Given the description of an element on the screen output the (x, y) to click on. 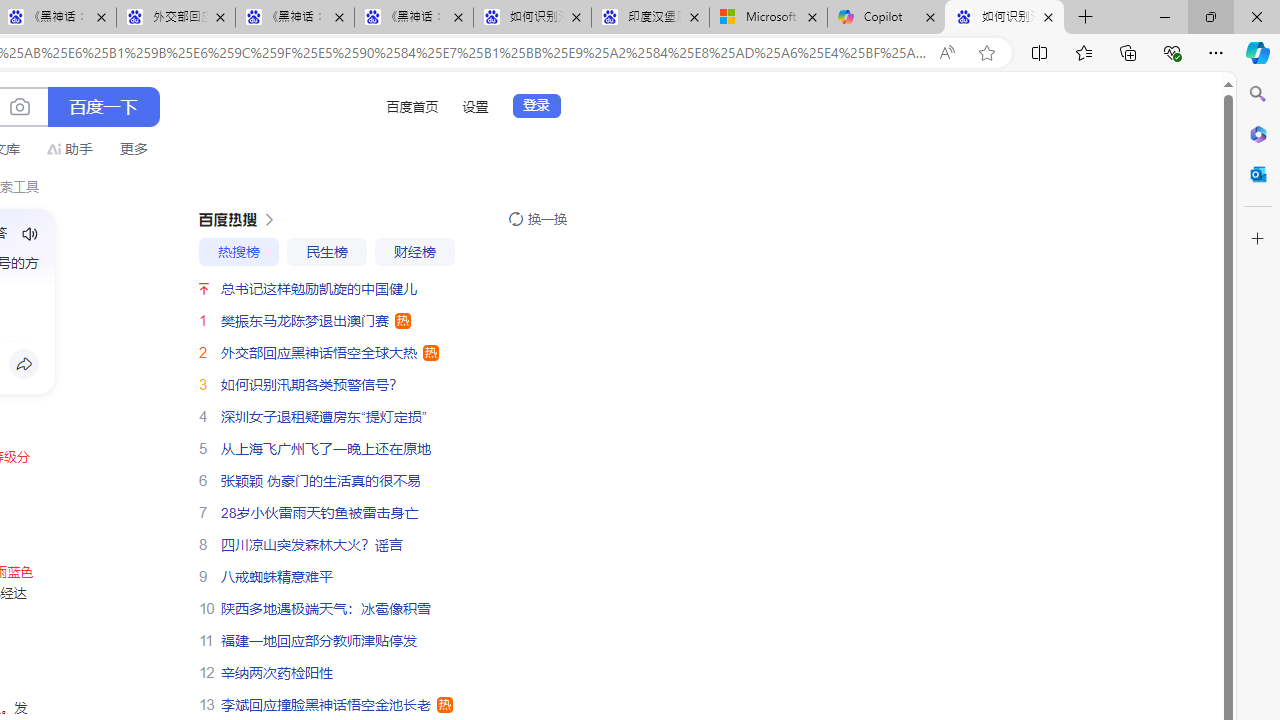
Browser essentials (1171, 52)
Customize (1258, 239)
Minimize (1164, 16)
Collections (1128, 52)
Settings and more (Alt+F) (1215, 52)
